Given the description of an element on the screen output the (x, y) to click on. 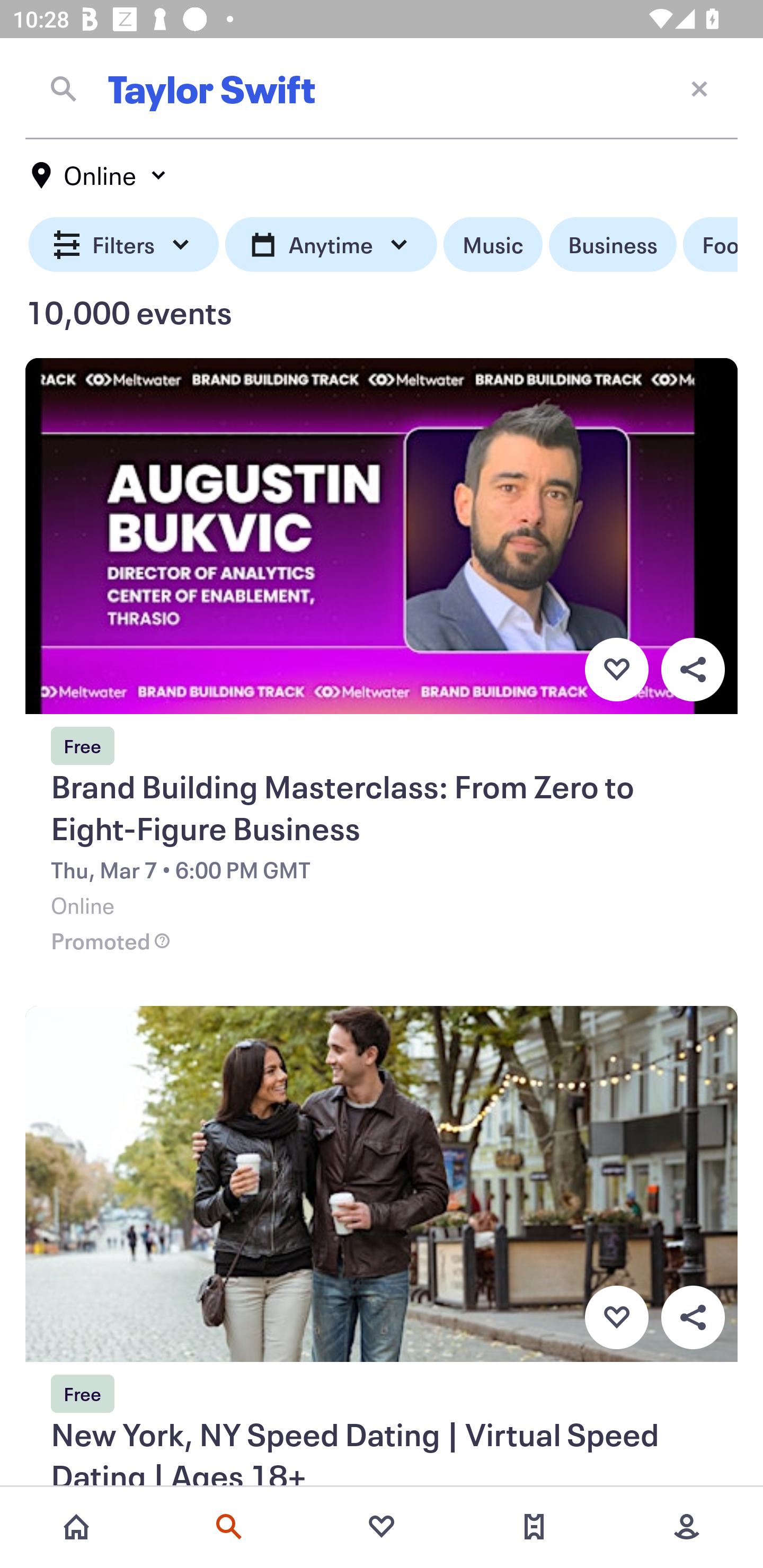
Taylor Swift Close current screen (381, 88)
Close current screen (699, 88)
Online (99, 175)
Filters (123, 244)
Anytime (331, 244)
Music (492, 244)
Business (612, 244)
Favorite button (616, 669)
Overflow menu button (692, 669)
Favorite button (616, 1317)
Overflow menu button (692, 1317)
Home (76, 1526)
Search events (228, 1526)
Favorites (381, 1526)
Tickets (533, 1526)
More (686, 1526)
